Given the description of an element on the screen output the (x, y) to click on. 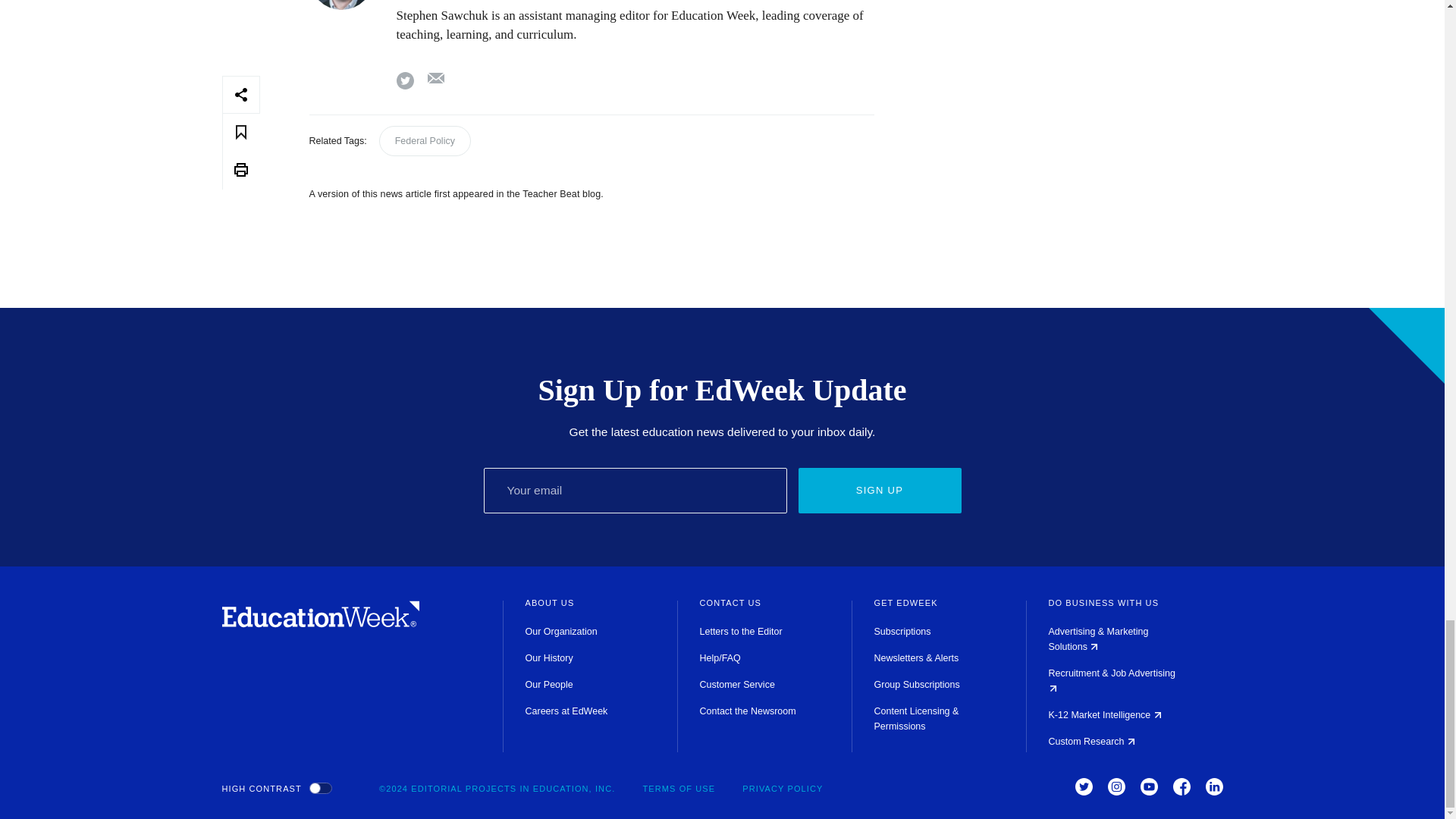
Homepage (320, 623)
